Given the description of an element on the screen output the (x, y) to click on. 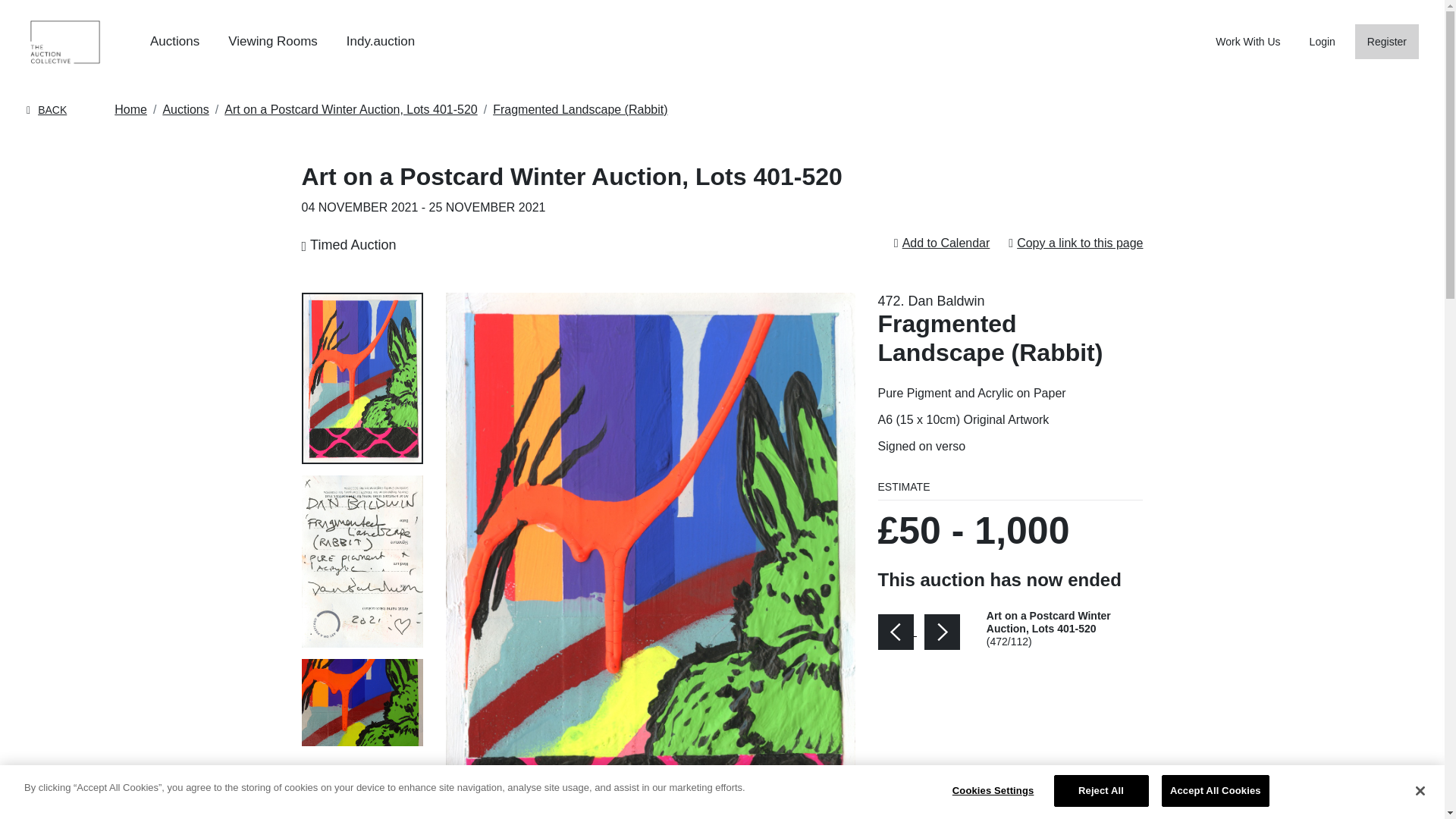
Add to Calendar (946, 242)
Auctions (184, 109)
Login (1321, 41)
Art on a Postcard Winter Auction, Lots 401-520 (350, 109)
Register (1386, 41)
Home (131, 109)
Work With Us (1247, 41)
Viewing Rooms (272, 41)
Auctions (174, 41)
BACK (46, 110)
Indy.auction (380, 41)
Copy a link to this page (1079, 242)
